Given the description of an element on the screen output the (x, y) to click on. 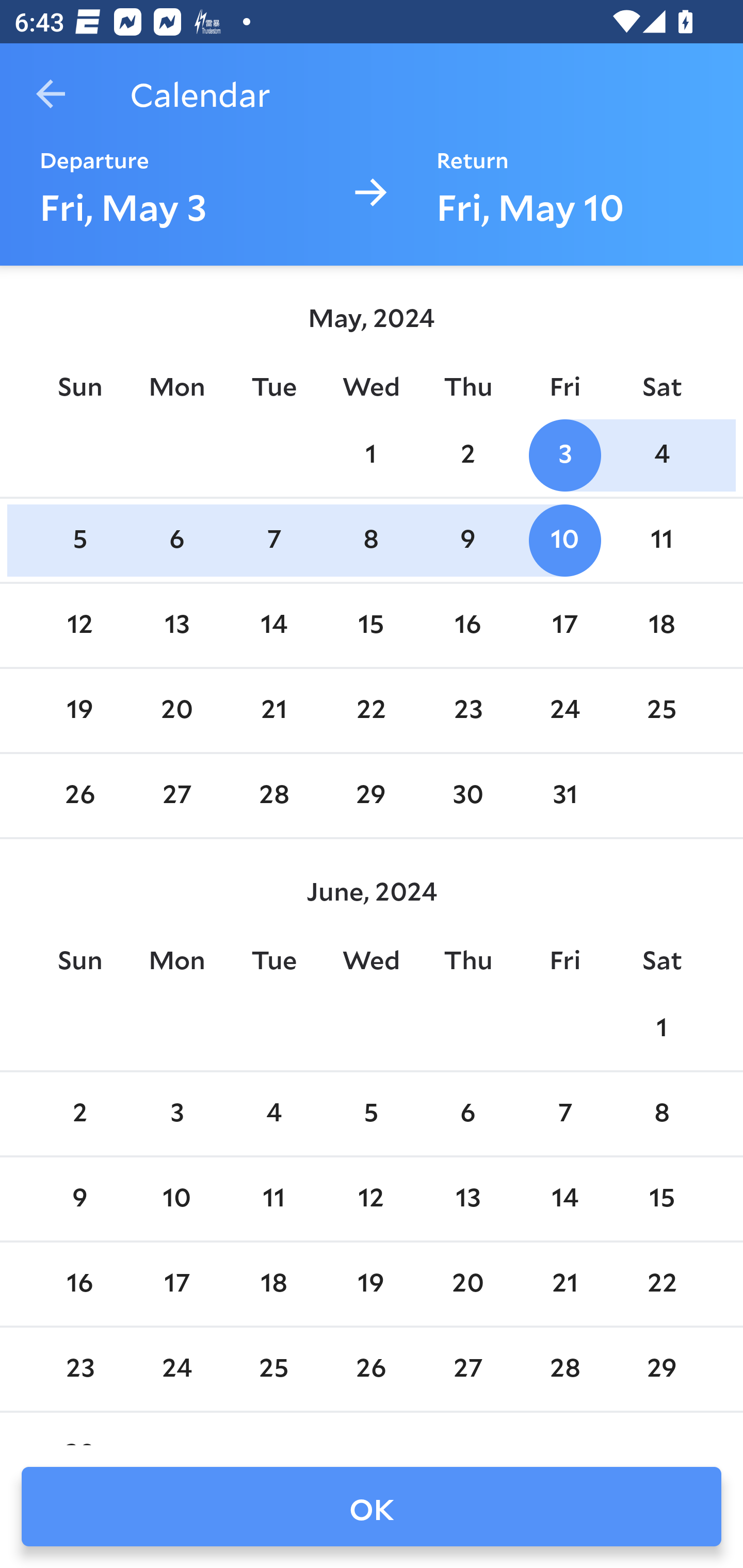
Navigate up (50, 93)
1 (371, 454)
2 (467, 454)
3 (565, 454)
4 (661, 454)
5 (79, 540)
6 (177, 540)
7 (273, 540)
8 (371, 540)
9 (467, 540)
10 (565, 540)
11 (661, 540)
12 (79, 625)
13 (177, 625)
14 (273, 625)
15 (371, 625)
16 (467, 625)
17 (565, 625)
18 (661, 625)
19 (79, 710)
20 (177, 710)
21 (273, 710)
22 (371, 710)
23 (467, 710)
24 (565, 710)
25 (661, 710)
26 (79, 796)
27 (177, 796)
28 (273, 796)
29 (371, 796)
30 (467, 796)
31 (565, 796)
1 (661, 1028)
2 (79, 1114)
3 (177, 1114)
4 (273, 1114)
5 (371, 1114)
6 (467, 1114)
7 (565, 1114)
8 (661, 1114)
9 (79, 1199)
10 (177, 1199)
11 (273, 1199)
12 (371, 1199)
13 (467, 1199)
14 (565, 1199)
15 (661, 1199)
16 (79, 1284)
17 (177, 1284)
18 (273, 1284)
